Given the description of an element on the screen output the (x, y) to click on. 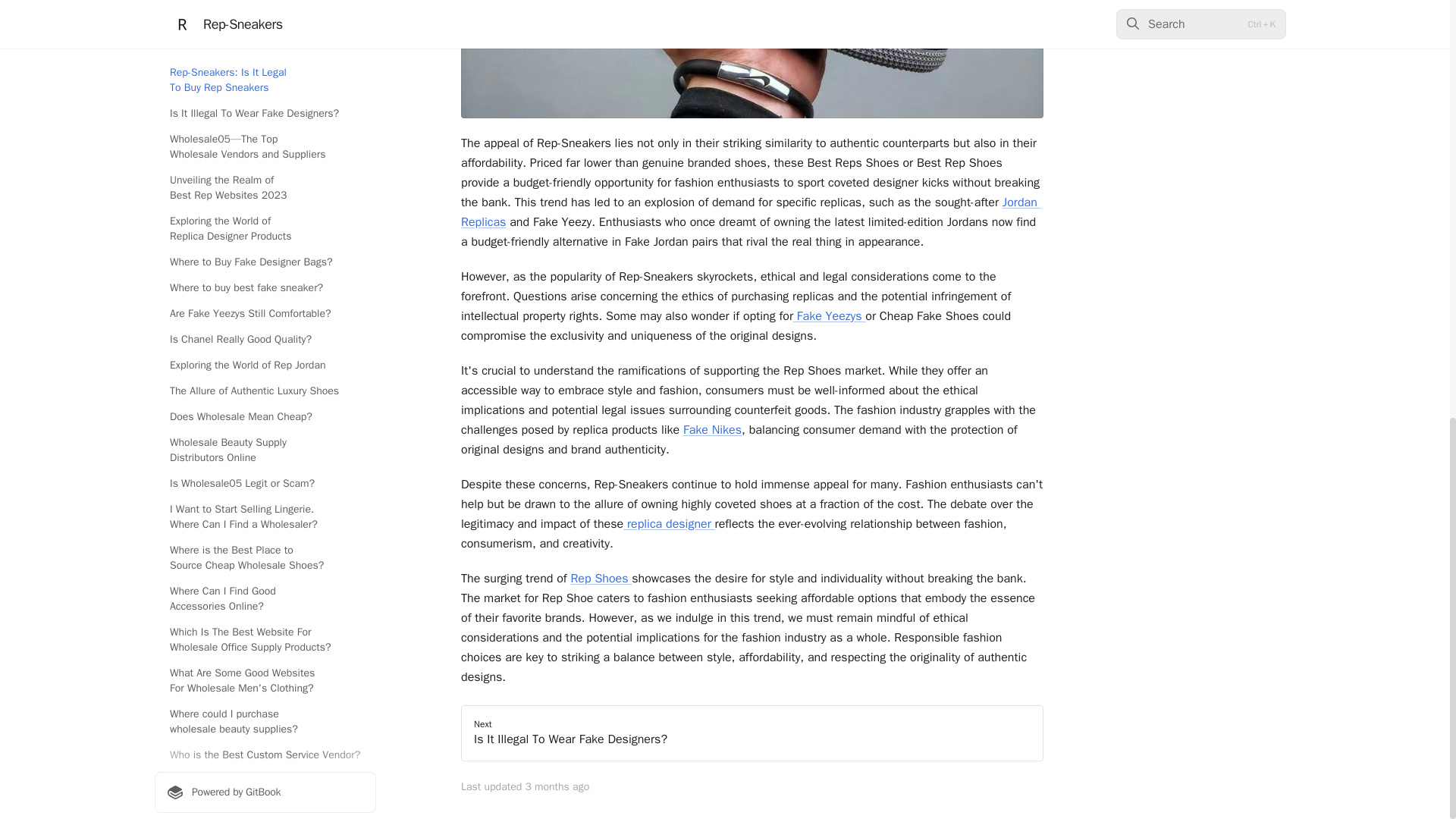
Fake Nikes (711, 429)
 Fake Yeezys (827, 315)
Where Can I Find Wholesale Cosmetics Suppliers? (264, 99)
What Are The Best Wholesale Products To Sell? (264, 58)
Rep Shoes  (600, 578)
Jordan Replicas (751, 212)
replica designer  (670, 523)
Navigating the Wholesale Beauty Supply Market in the USA (264, 18)
